Given the description of an element on the screen output the (x, y) to click on. 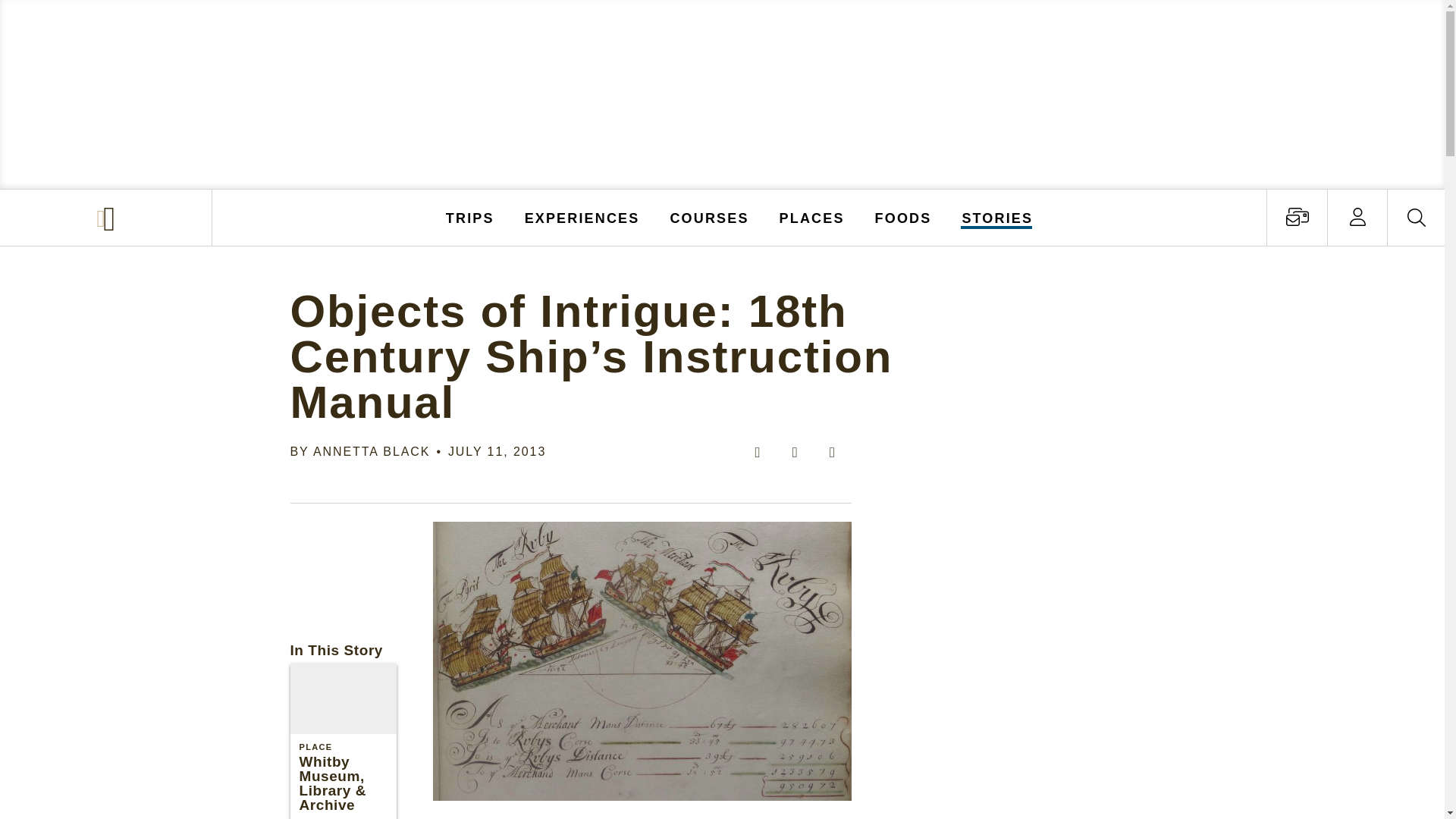
Atlas Obscura (107, 218)
COURSES (707, 217)
EXPERIENCES (582, 217)
PLACES (812, 217)
TRIPS (469, 217)
